Given the description of an element on the screen output the (x, y) to click on. 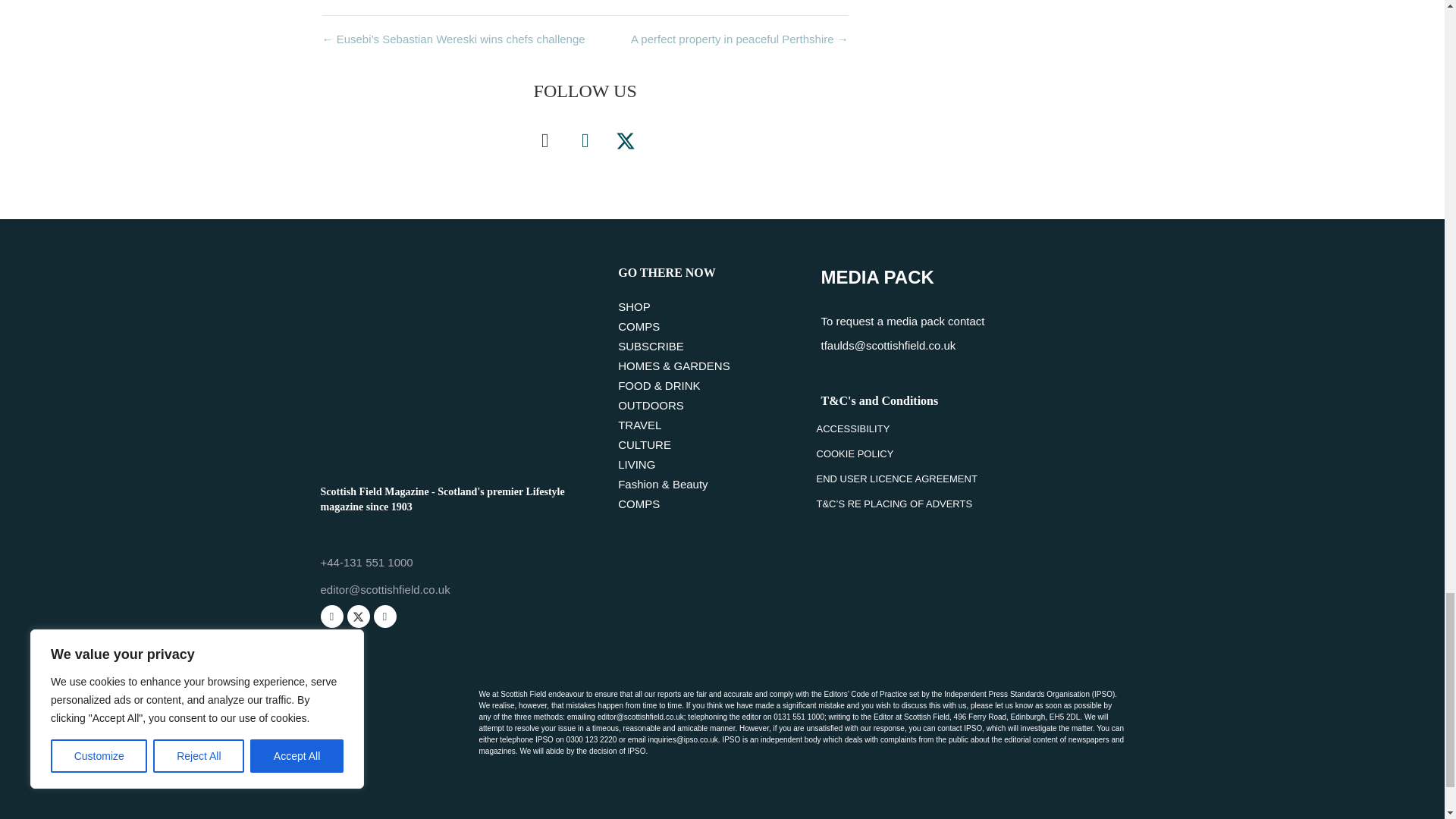
Facebook (544, 140)
Instagram (384, 616)
Facebook (331, 616)
Instagram (584, 140)
